Given the description of an element on the screen output the (x, y) to click on. 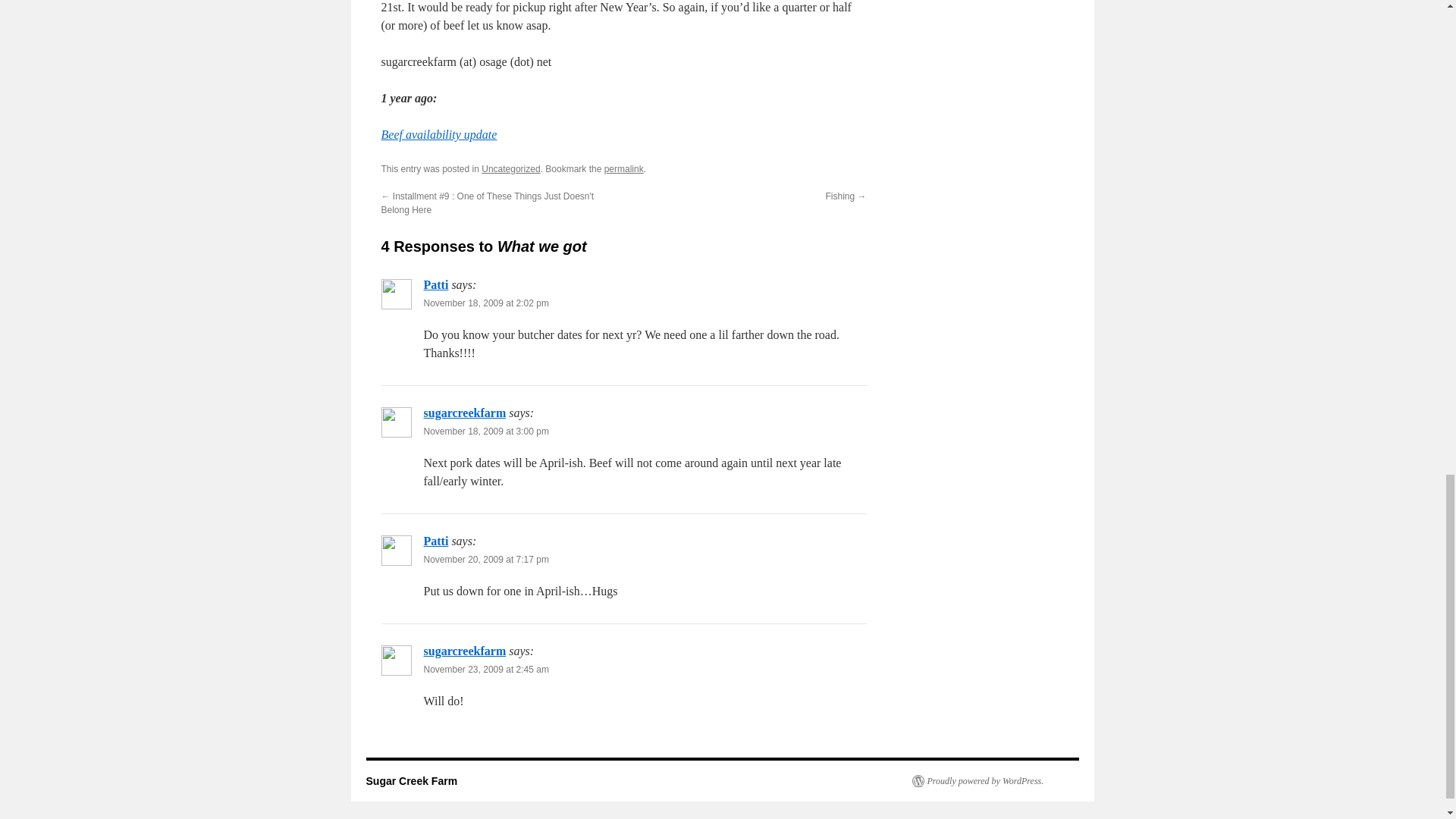
Sugar Creek Farm (411, 780)
November 23, 2009 at 2:45 am (485, 669)
sugarcreekfarm (464, 650)
Beef availability update (438, 133)
sugarcreekfarm (464, 412)
Permalink to What we got (623, 168)
Semantic Personal Publishing Platform (977, 780)
November 18, 2009 at 3:00 pm (485, 430)
Patti (435, 540)
November 20, 2009 at 7:17 pm (485, 559)
